Given the description of an element on the screen output the (x, y) to click on. 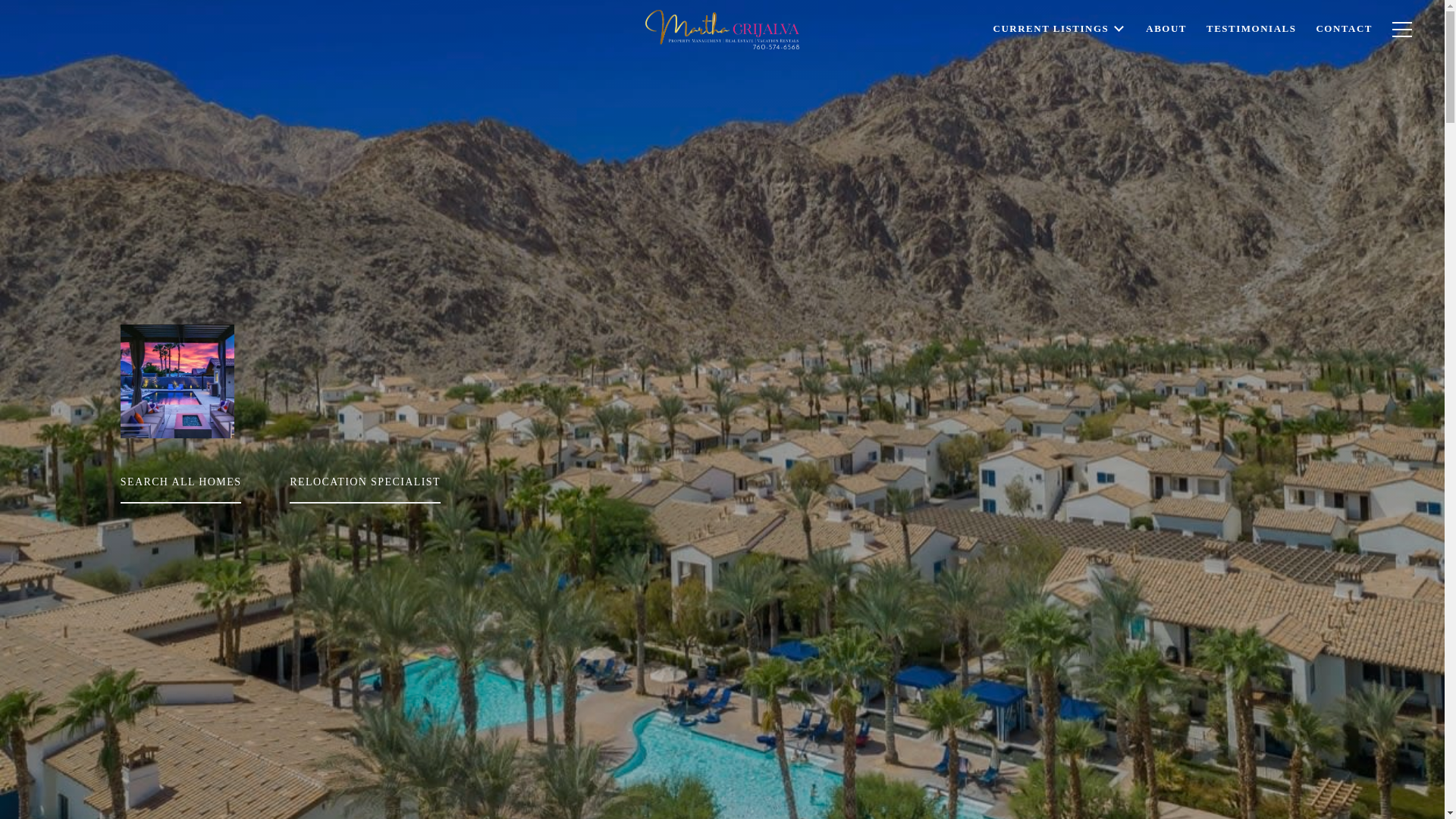
RELOCATION SPECIALIST (387, 481)
ABOUT (1165, 60)
TESTIMONIALS (1251, 58)
SEARCH ALL HOMES (203, 481)
CURRENT LISTINGS (1060, 66)
CONTACT (1343, 56)
